Given the description of an element on the screen output the (x, y) to click on. 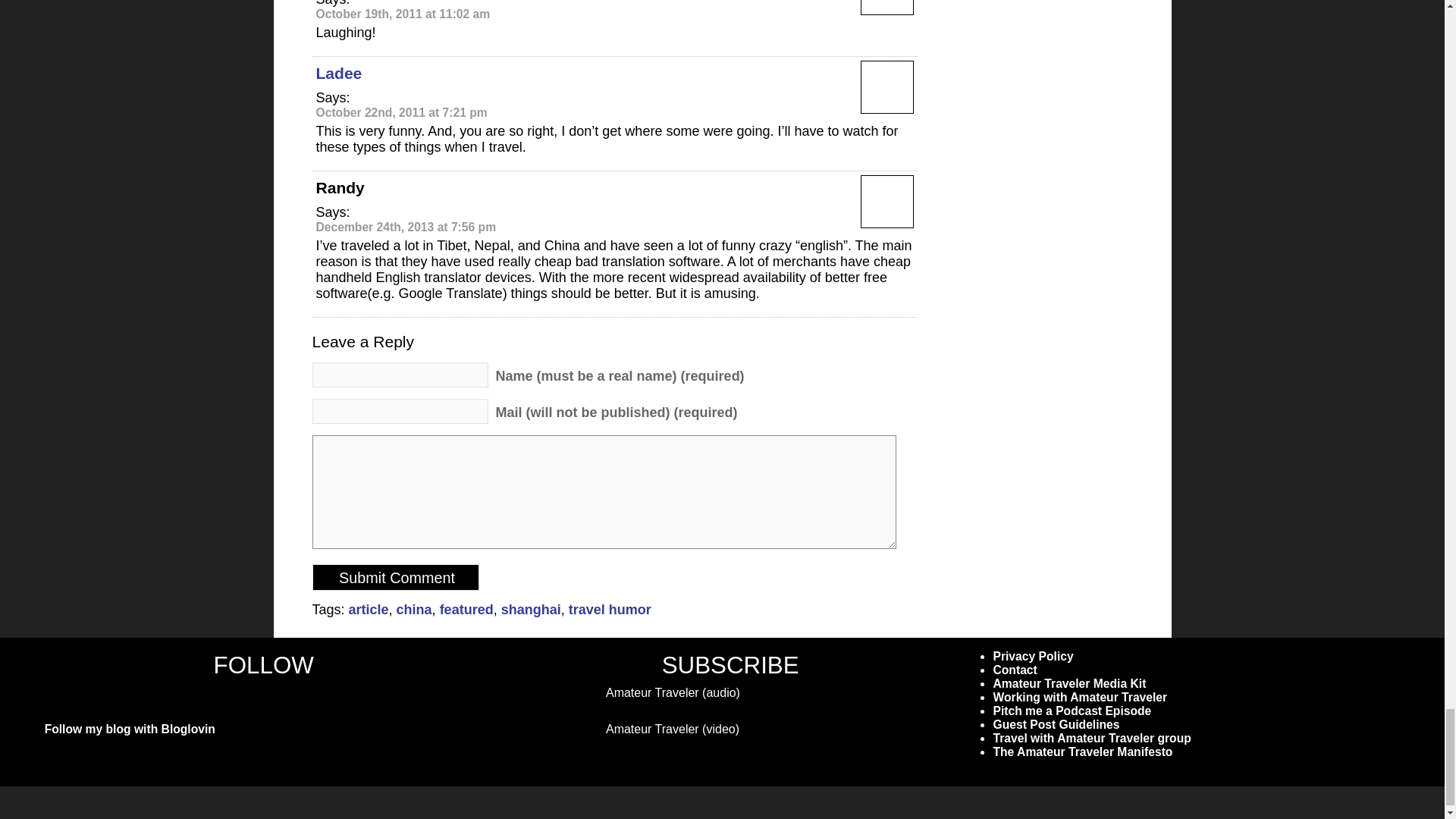
Submit Comment (396, 577)
